Given the description of an element on the screen output the (x, y) to click on. 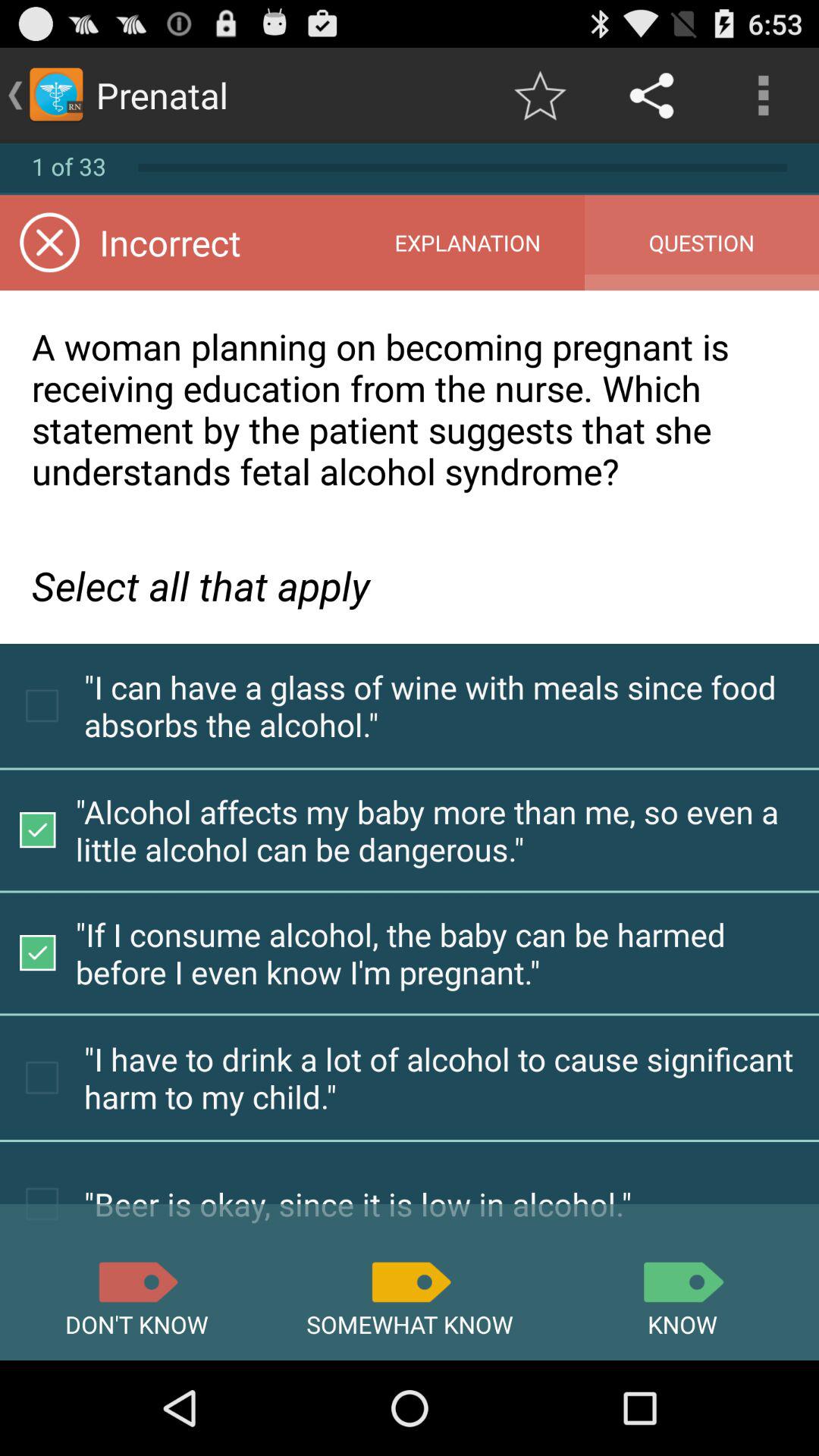
select the icon below the beer is okay item (409, 1281)
